Given the description of an element on the screen output the (x, y) to click on. 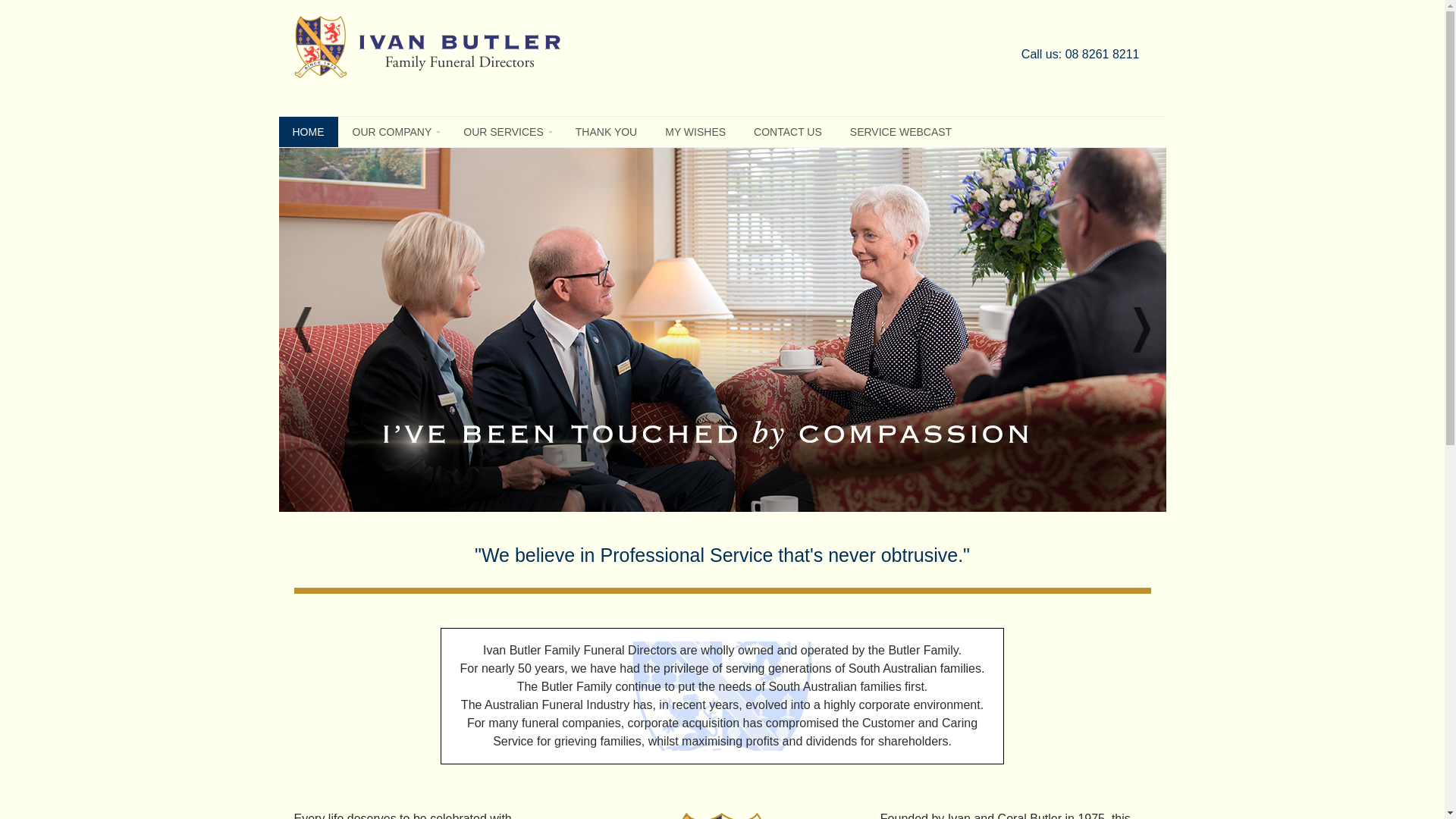
HOME Element type: text (308, 131)
THANK YOU Element type: text (605, 131)
Call us: 08 8261 8211 Element type: text (1080, 53)
OUR SERVICES Element type: text (505, 131)
MY WISHES Element type: text (695, 131)
OUR COMPANY Element type: text (393, 131)
SERVICE WEBCAST Element type: text (900, 131)
CONTACT US Element type: text (787, 131)
